Given the description of an element on the screen output the (x, y) to click on. 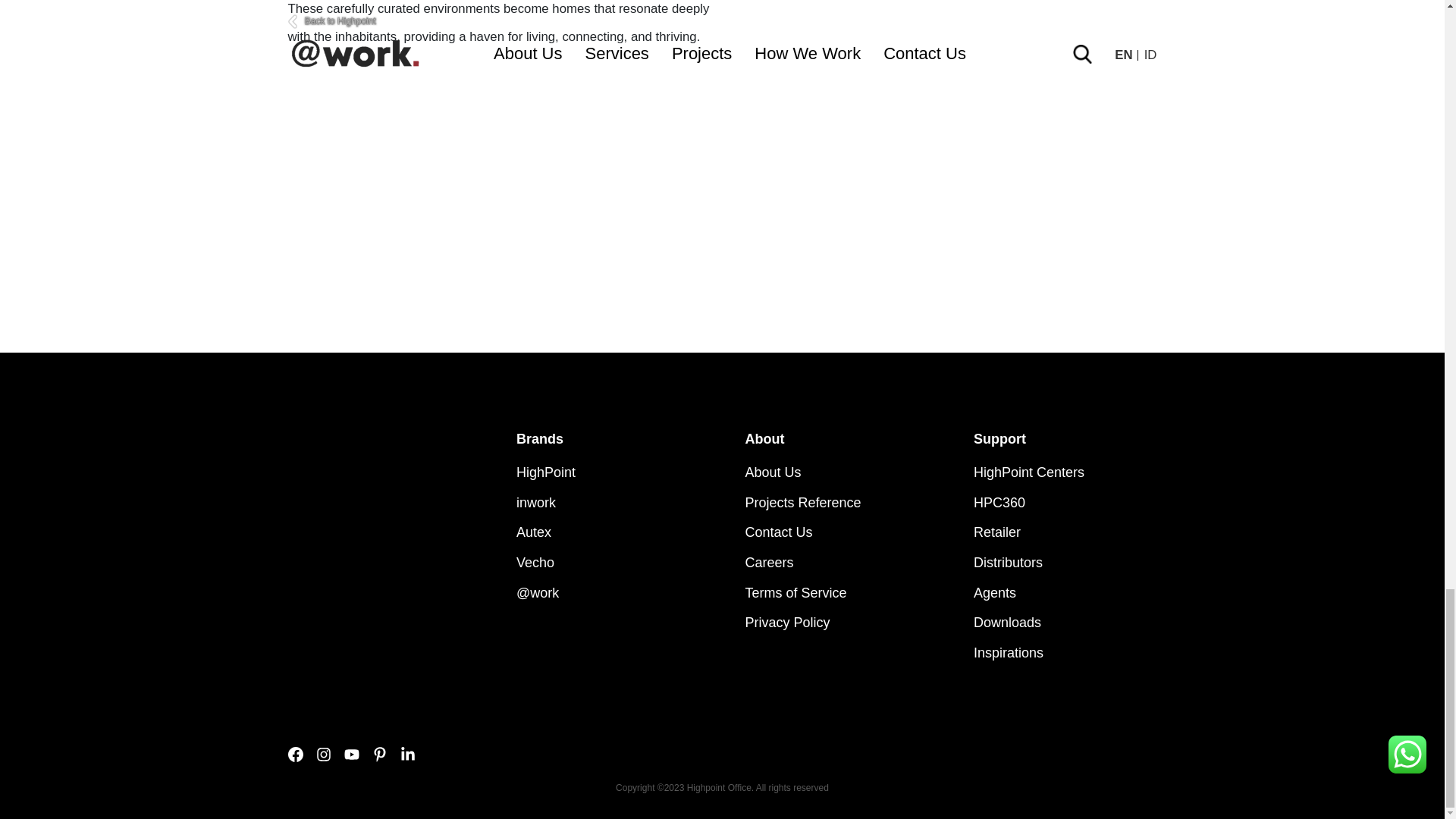
Careers (768, 562)
HighPoint (545, 472)
Autex (533, 531)
Privacy Policy (786, 622)
Contact Us (778, 531)
Retailer (997, 531)
Downloads (1007, 622)
HPC360 (999, 502)
inwork (536, 502)
HighPoint Centers (1029, 472)
Vecho (535, 562)
Agents (995, 592)
Projects Reference (802, 502)
Terms of Service (794, 592)
About Us (772, 472)
